Given the description of an element on the screen output the (x, y) to click on. 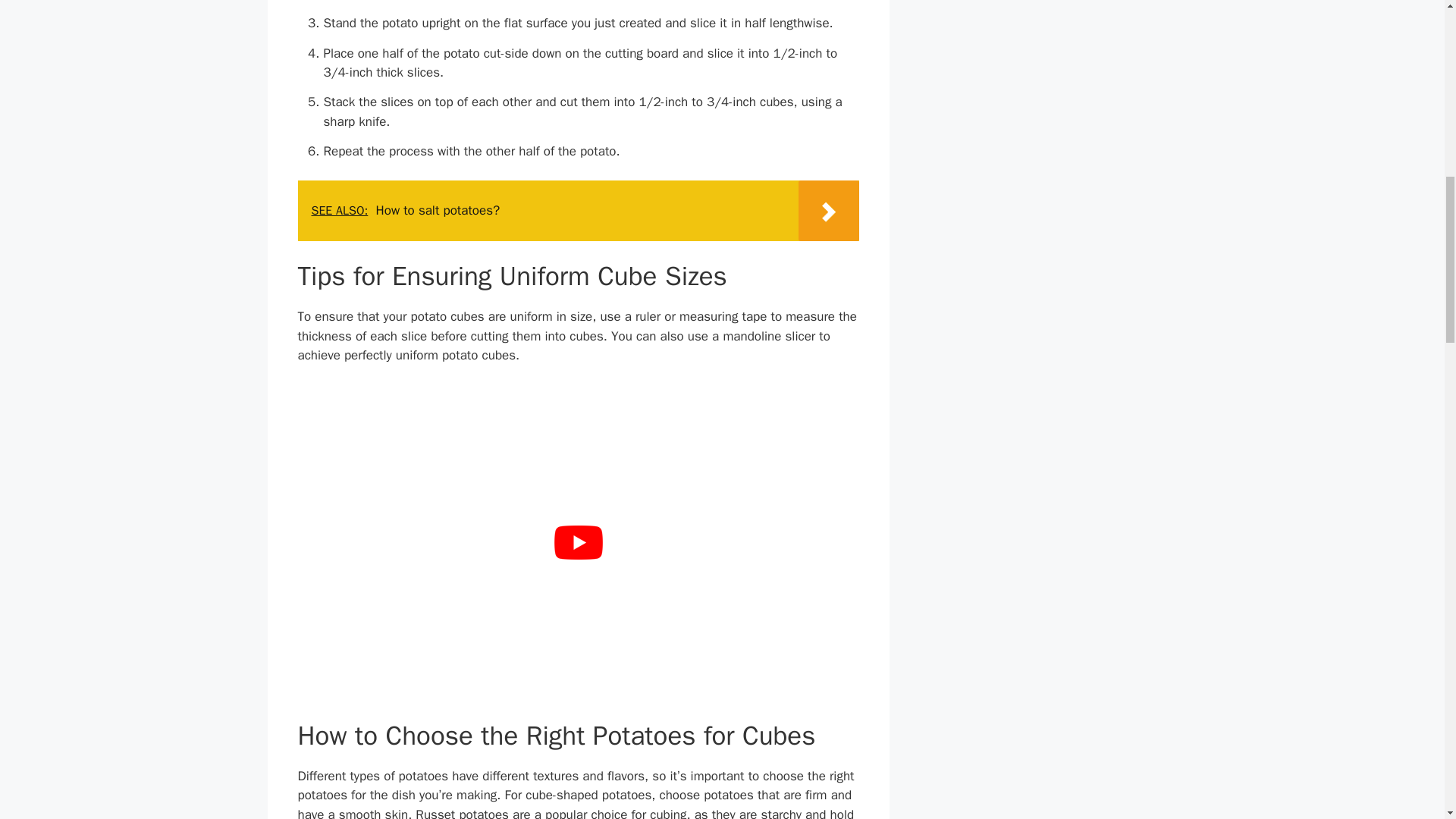
SEE ALSO:  How to salt potatoes? (578, 210)
Scroll back to top (1423, 737)
